Given the description of an element on the screen output the (x, y) to click on. 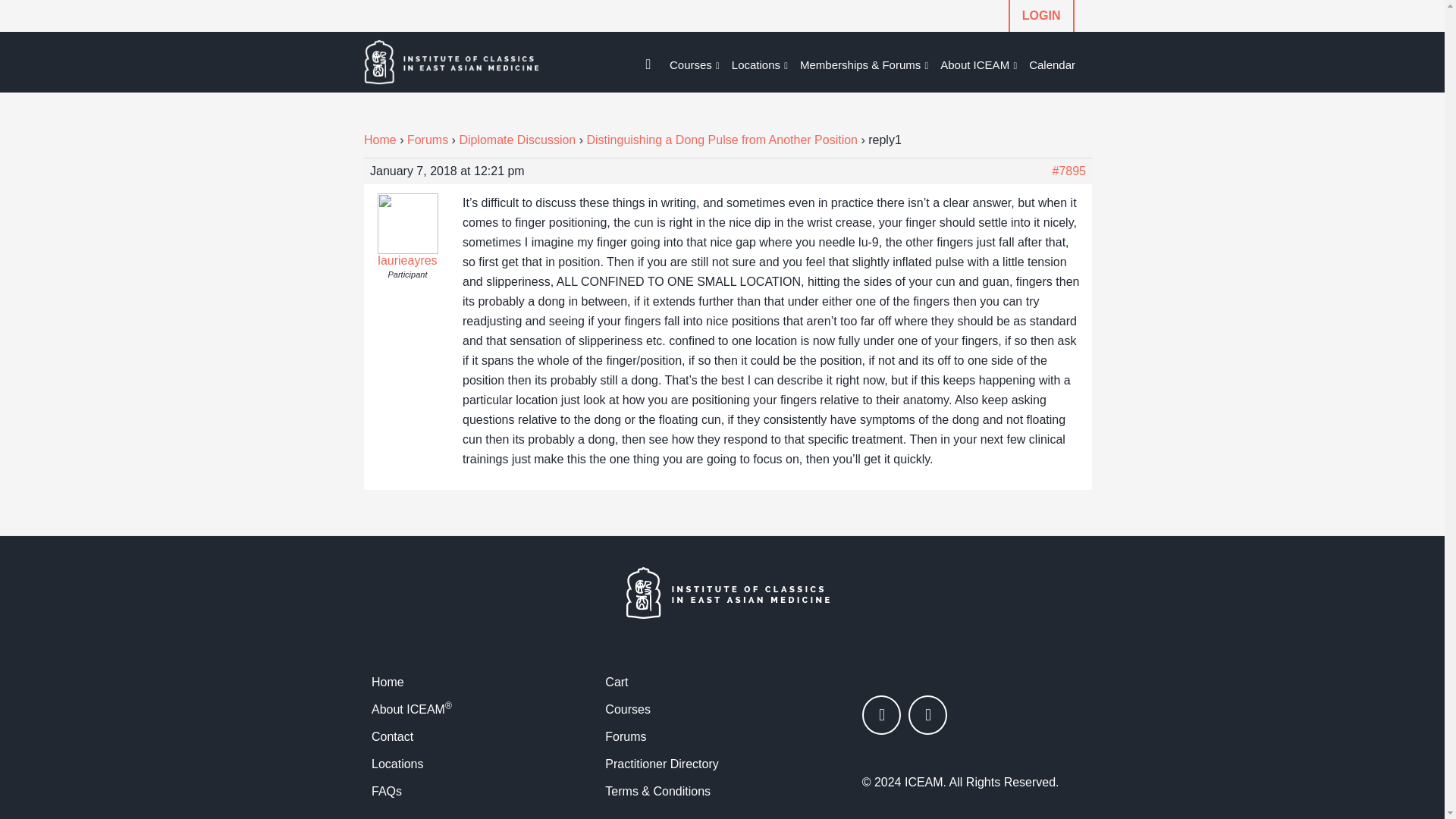
About ICEAM (978, 64)
ICEAM (468, 62)
View your shopping cart (648, 58)
LOGIN (1041, 15)
Courses (694, 64)
Locations (759, 64)
View laurieayres's profile (407, 253)
